Given the description of an element on the screen output the (x, y) to click on. 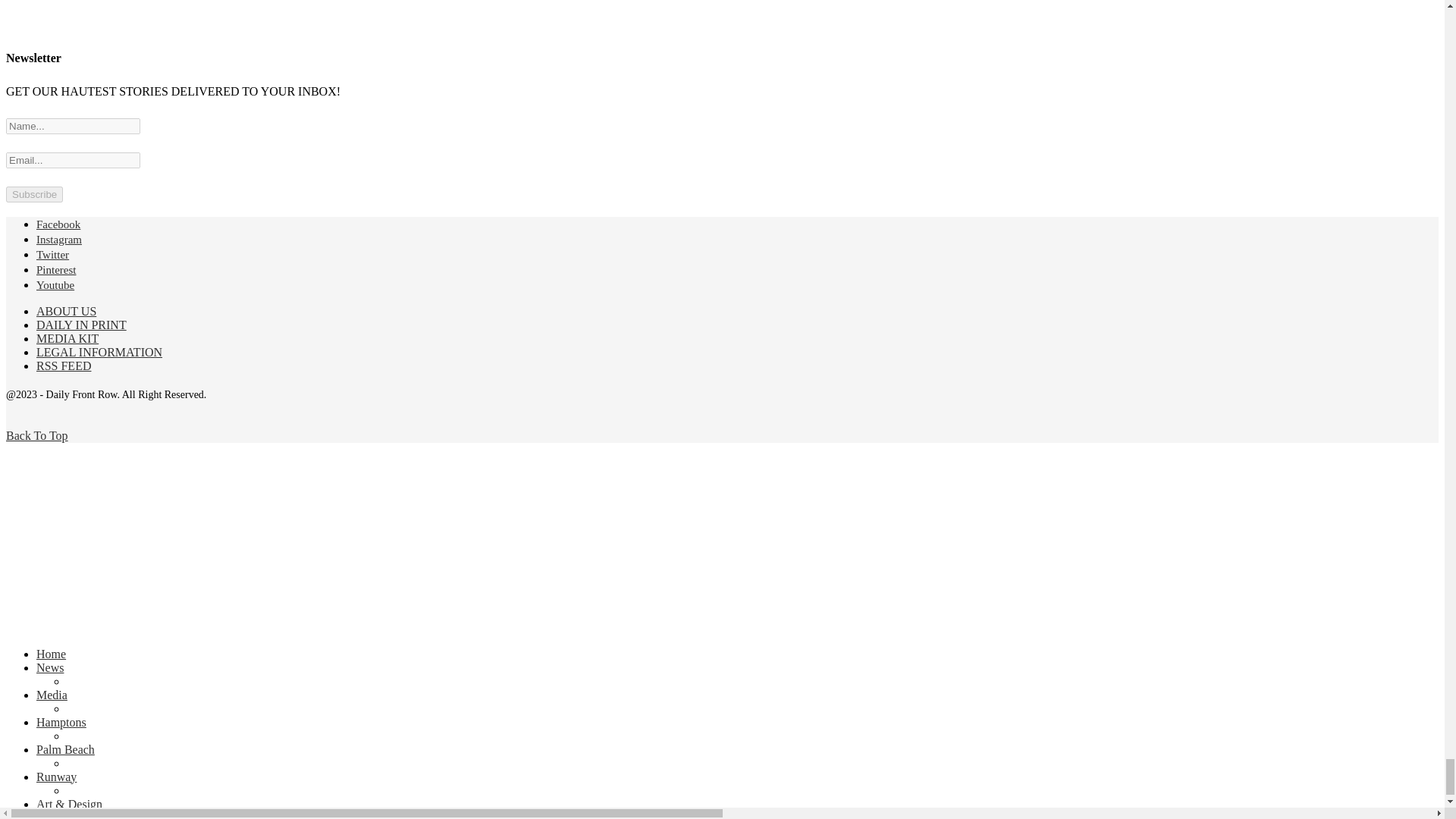
Subscribe (33, 194)
